Given the description of an element on the screen output the (x, y) to click on. 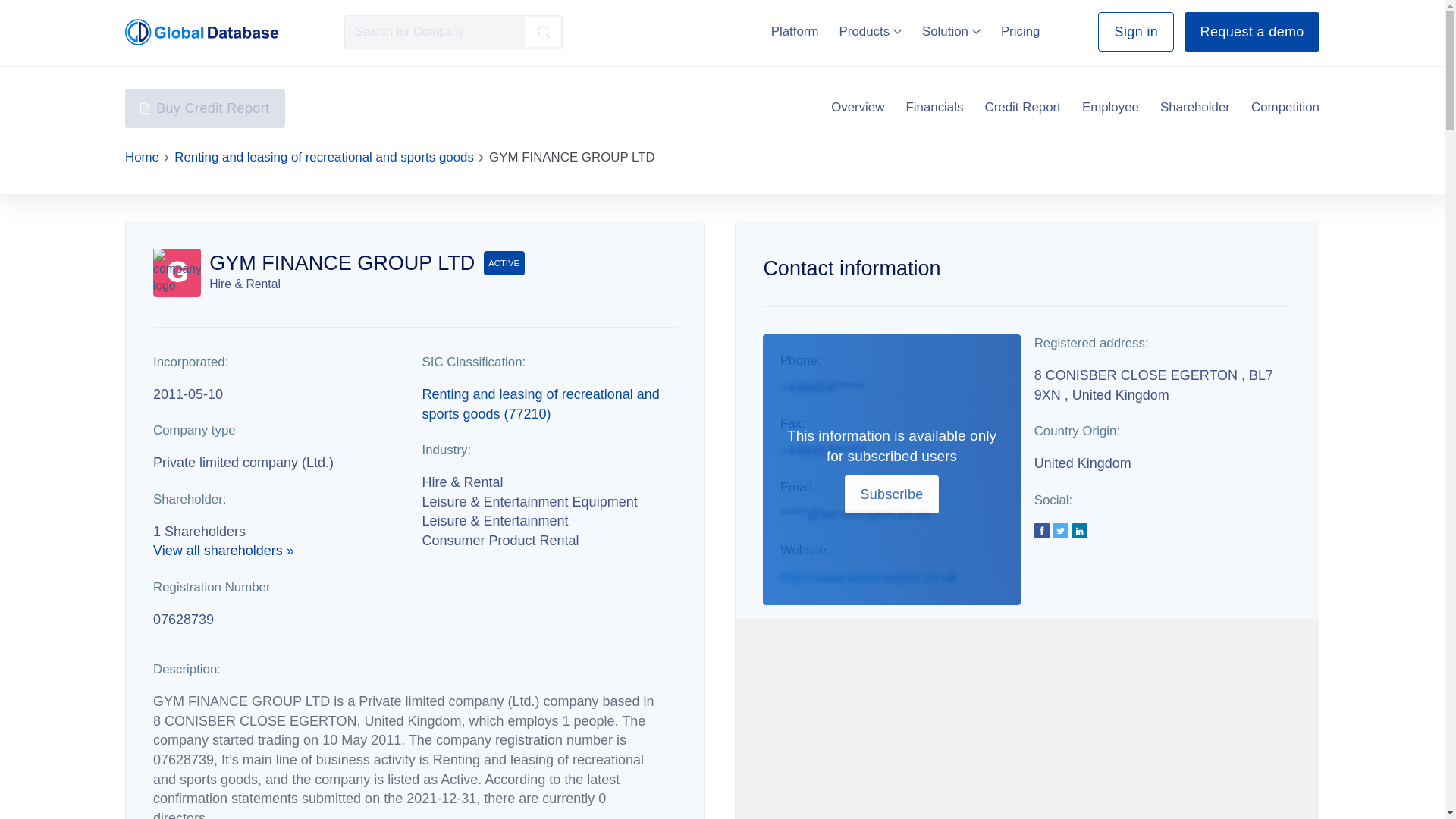
Overview (857, 107)
Employee (1109, 107)
Buy Credit Report (205, 107)
Pricing (1021, 31)
Platform (794, 31)
Sign in (1135, 31)
Financials (934, 107)
Request a demo (1252, 31)
Credit Report (1023, 107)
Shareholder (1195, 107)
